Given the description of an element on the screen output the (x, y) to click on. 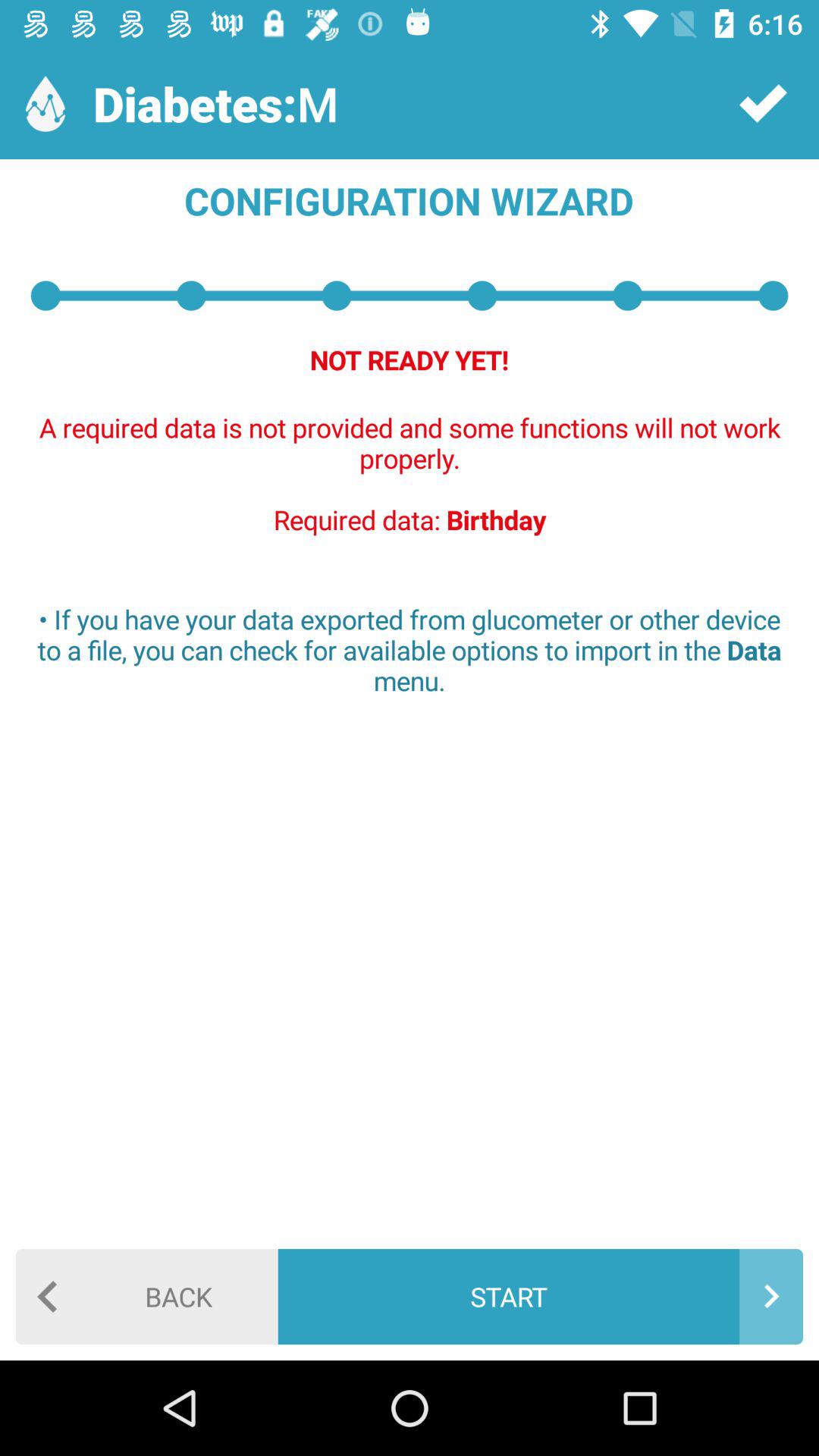
click icon to the left of the start icon (146, 1296)
